Given the description of an element on the screen output the (x, y) to click on. 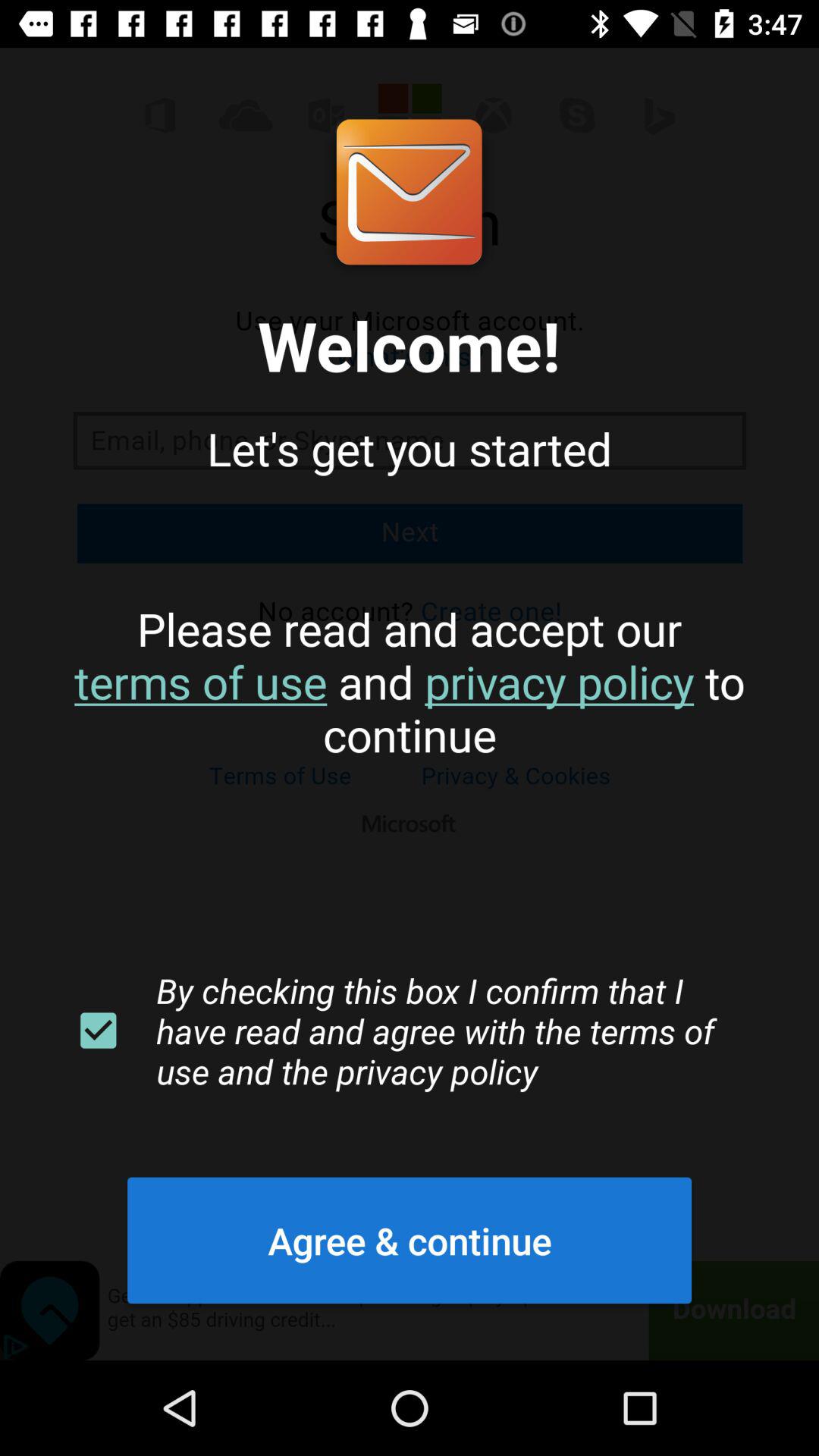
launch icon below please read and item (98, 1030)
